Given the description of an element on the screen output the (x, y) to click on. 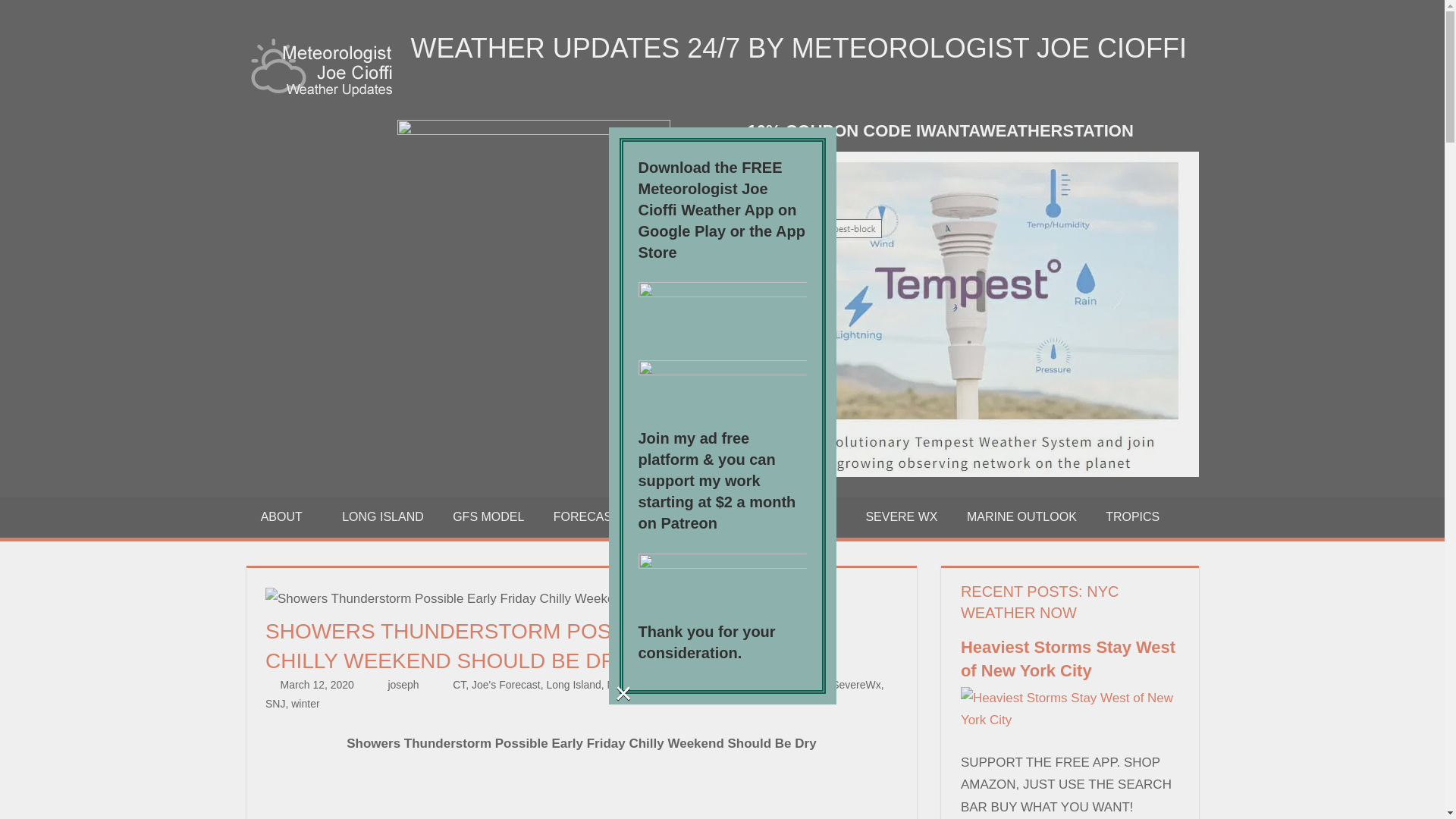
Heaviest Storms Stay West of New York City (1069, 719)
NJ (613, 684)
rain (749, 684)
TROPICS (1132, 517)
GFS MODEL (488, 517)
ABOUT (286, 517)
MARINE OUTLOOK (1021, 517)
PHL (724, 684)
View all posts by joseph (403, 684)
FORECASTS (595, 517)
